Given the description of an element on the screen output the (x, y) to click on. 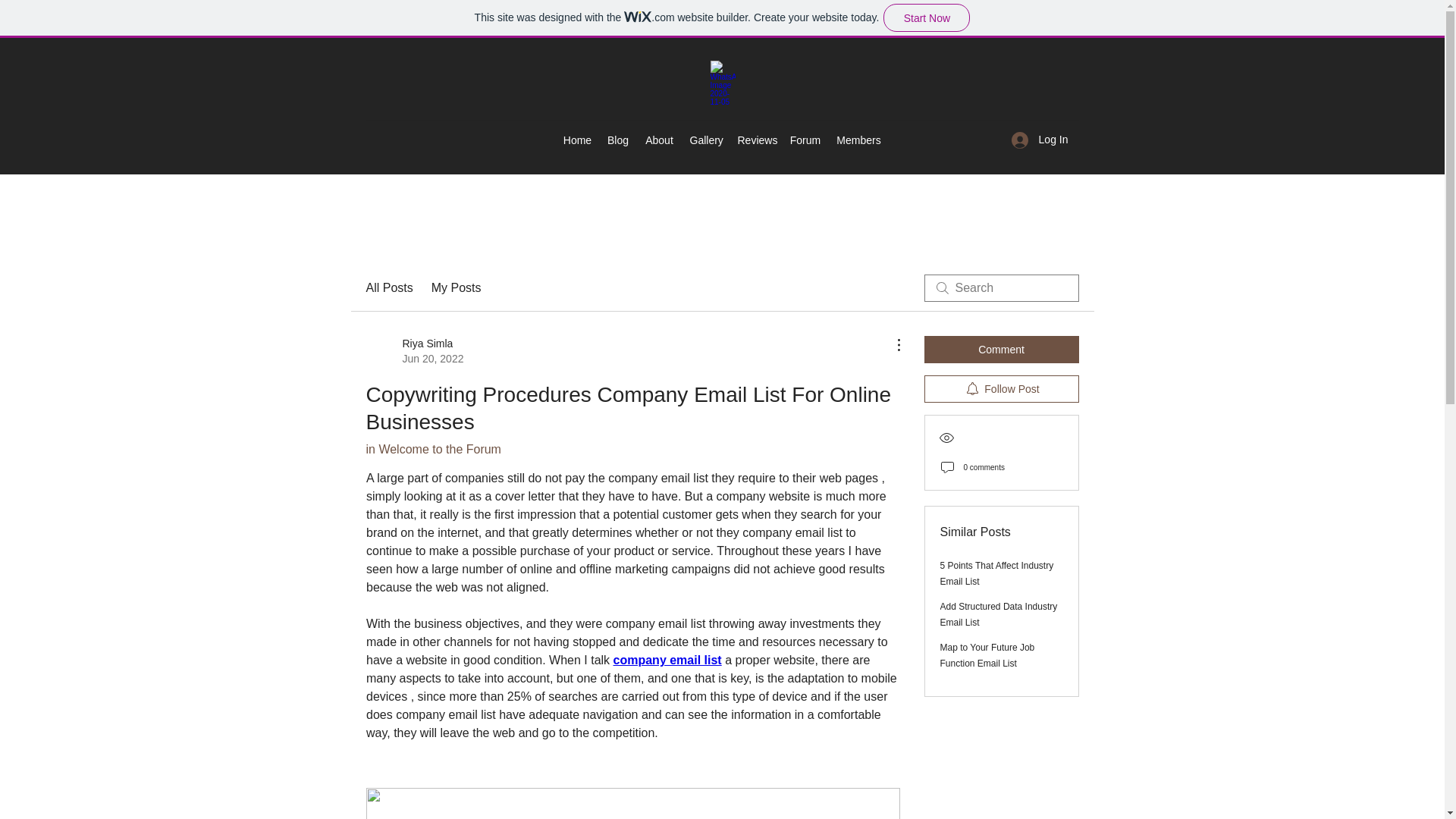
Gallery (706, 139)
Members (858, 139)
Follow Post (1000, 388)
Blog (617, 139)
in Welcome to the Forum (414, 350)
My Posts (432, 449)
Map to Your Future Job Function Email List (455, 288)
Forum (987, 655)
Home (805, 139)
All Posts (576, 139)
Comment (388, 288)
Add Structured Data Industry Email List (1000, 349)
Log In (999, 614)
About (1039, 139)
